Given the description of an element on the screen output the (x, y) to click on. 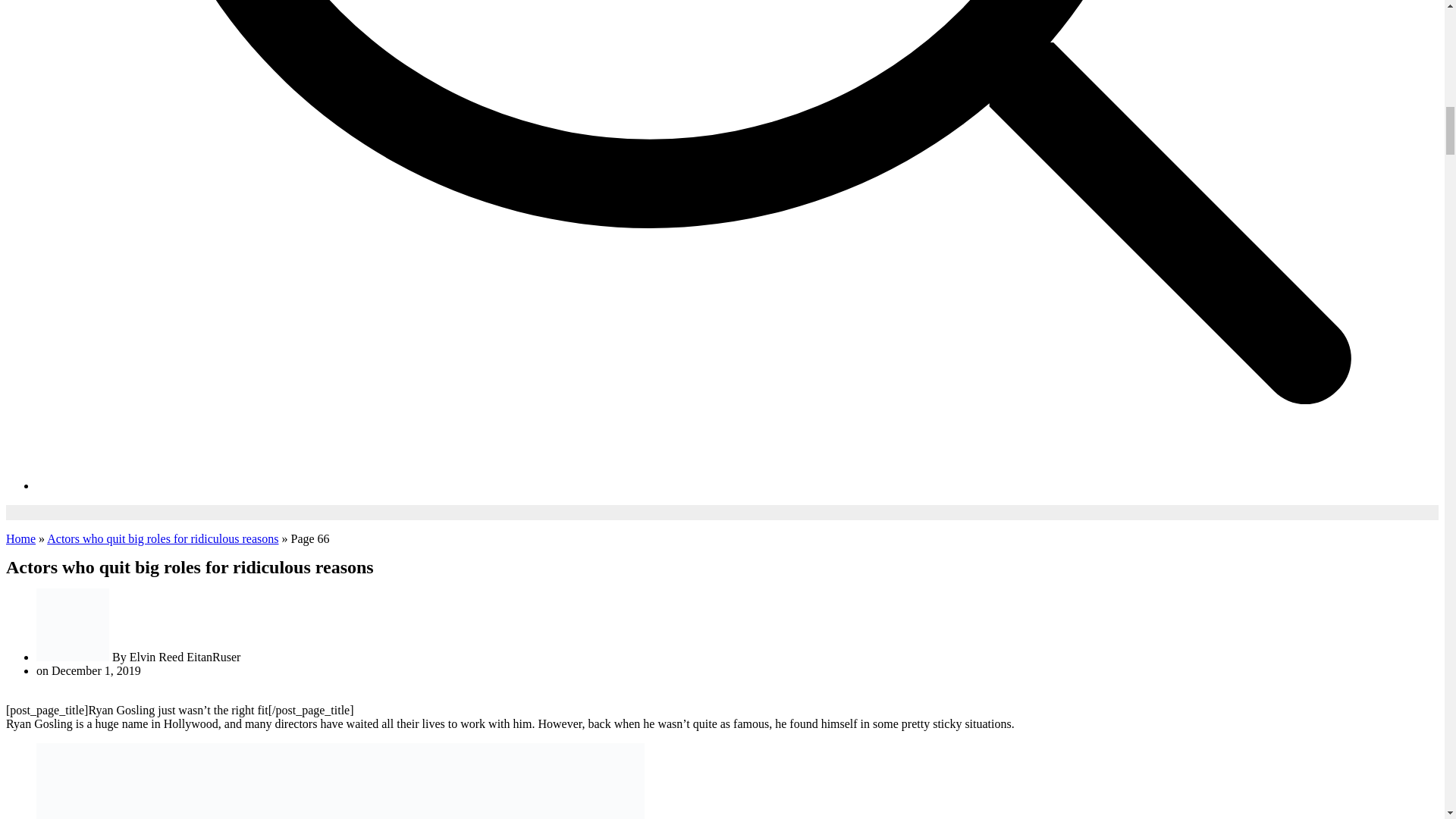
Home (19, 538)
Actors who quit big roles for ridiculous reasons (162, 538)
